Given the description of an element on the screen output the (x, y) to click on. 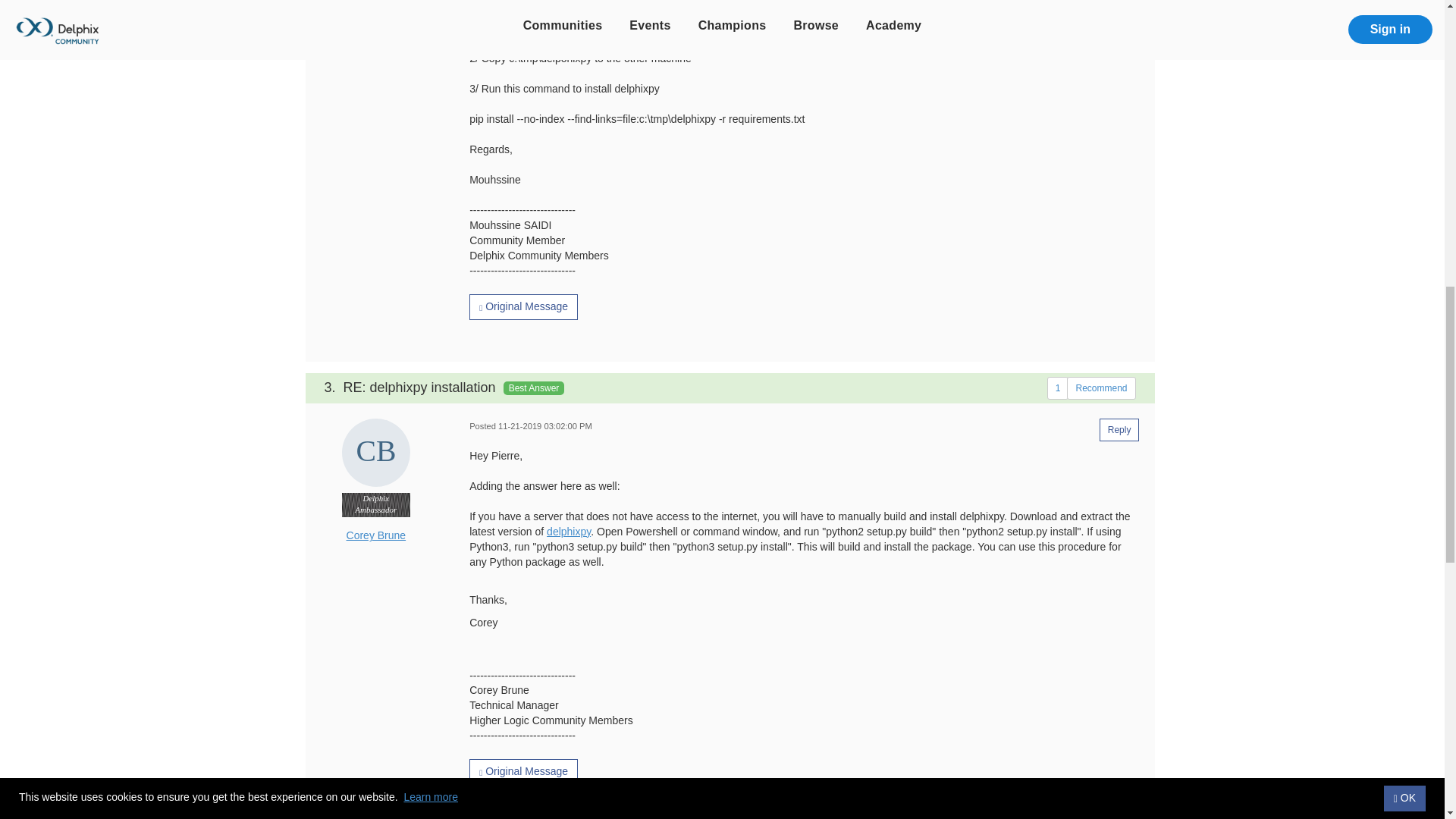
Recommend this item. (1101, 387)
Selected as the best answer (729, 388)
Delphix Employee ribbon (376, 505)
Corey Brune (376, 452)
Nbr of recommenders (1057, 387)
